Given the description of an element on the screen output the (x, y) to click on. 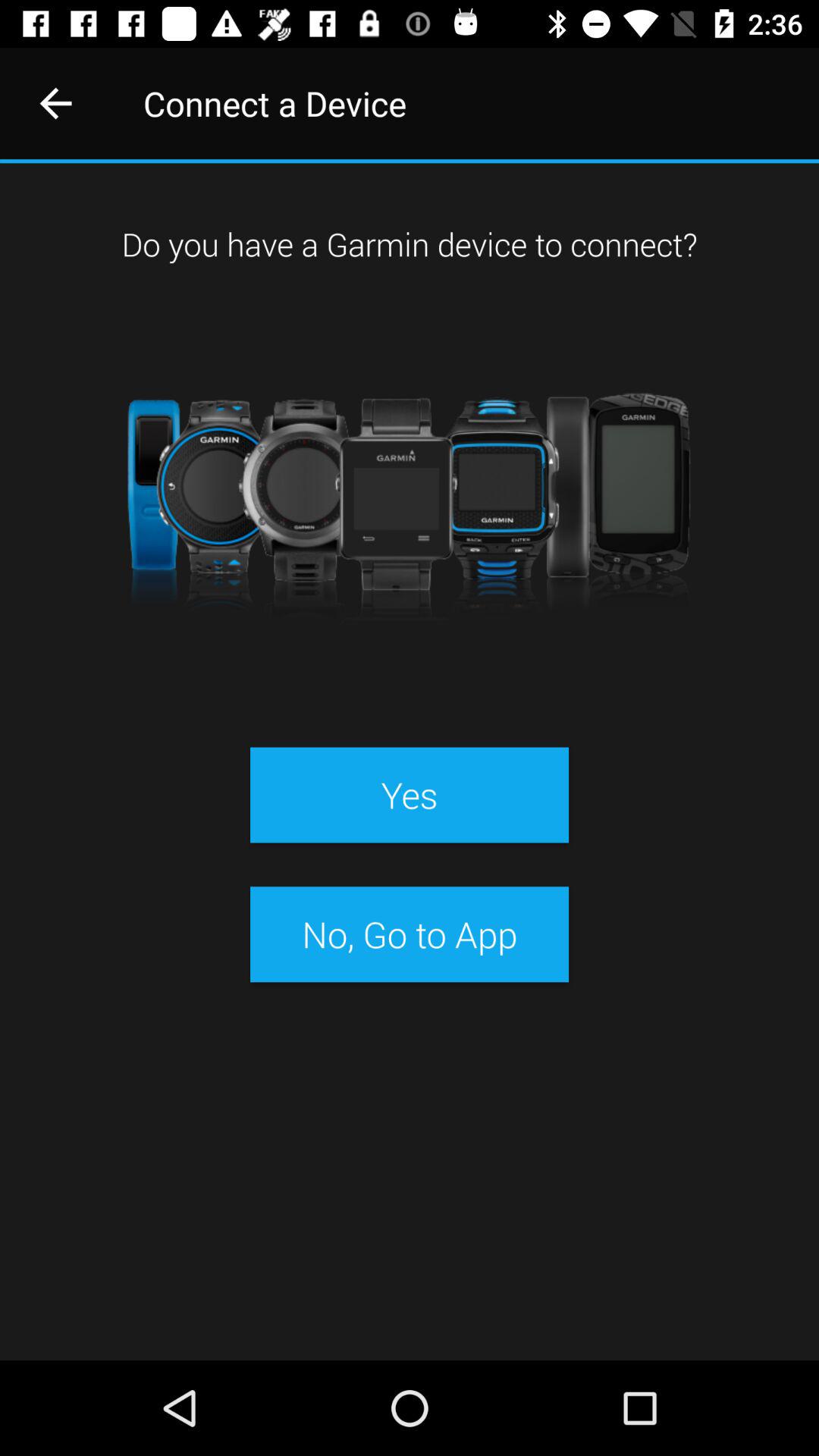
choose icon at the top left corner (55, 103)
